Given the description of an element on the screen output the (x, y) to click on. 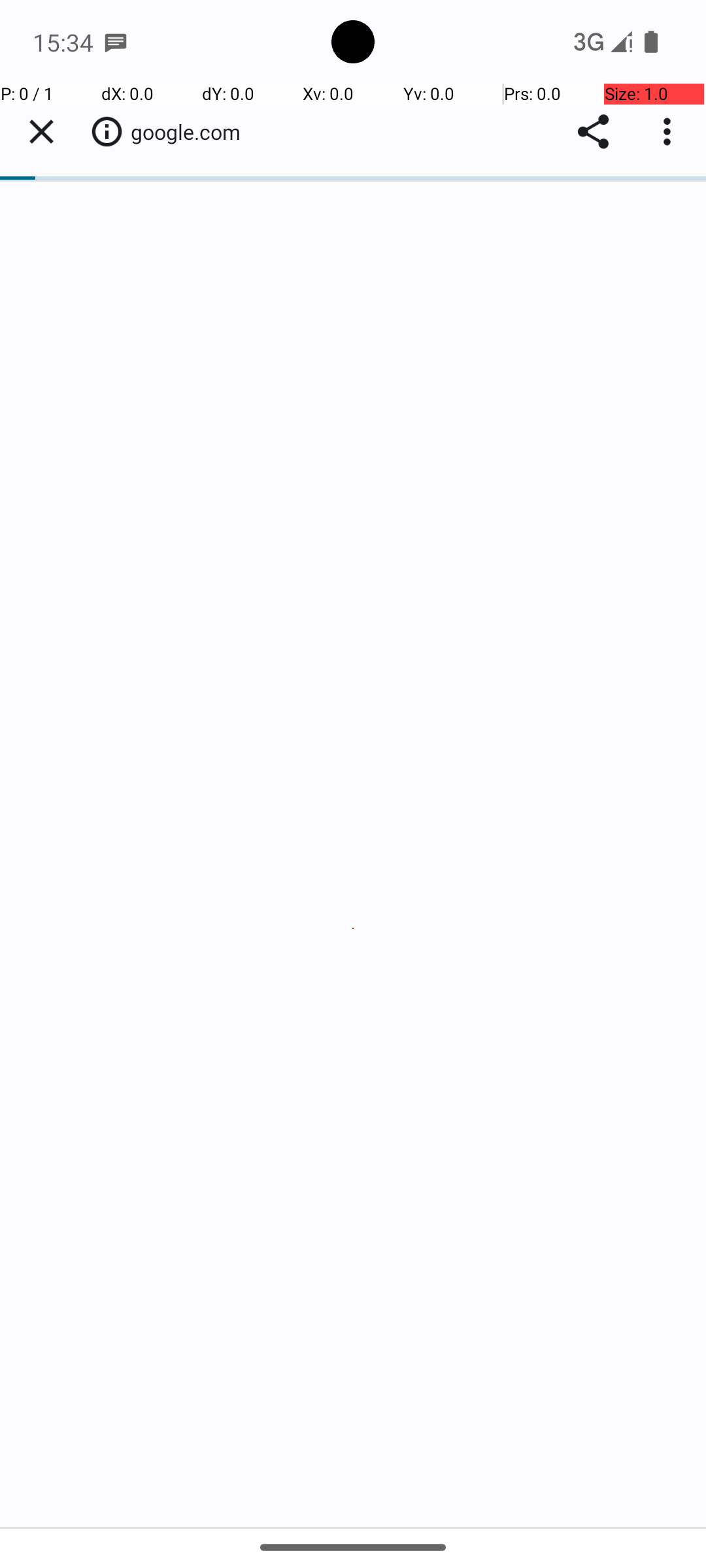
Web View Element type: android.widget.FrameLayout (353, 804)
Close tab Element type: android.widget.ImageButton (41, 131)
Your connection to this site is not secure Element type: android.widget.ImageButton (106, 131)
Share Element type: android.widget.ImageButton (593, 131)
More options Element type: android.widget.ImageButton (670, 131)
google.com Element type: android.widget.TextView (192, 131)
SMS Messenger notification: +10214033213 Element type: android.widget.ImageView (115, 41)
